Given the description of an element on the screen output the (x, y) to click on. 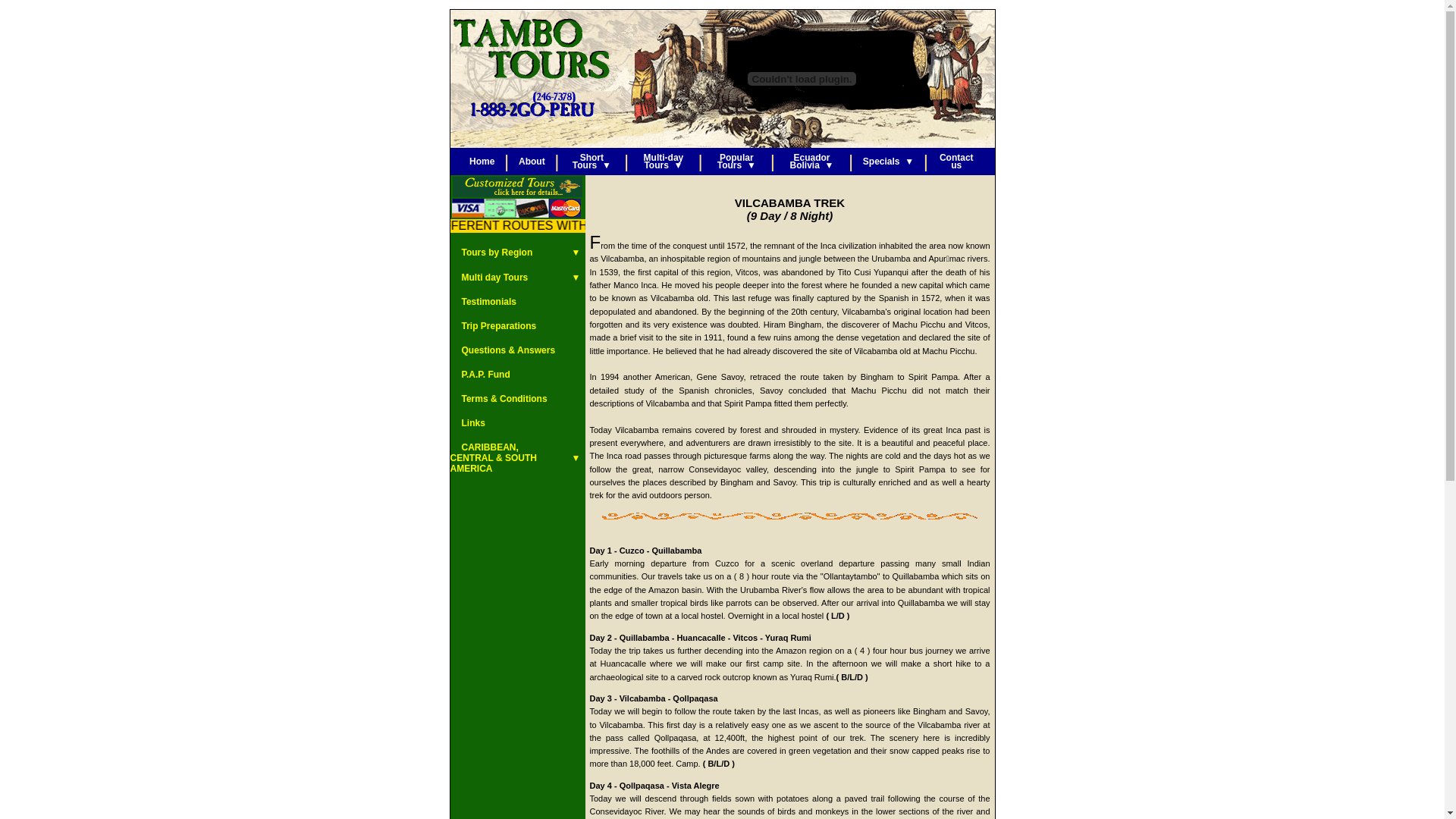
About Element type: text (531, 161)
P.A.P. Fund Element type: text (480, 374)
Home Element type: text (481, 161)
Questions & Answers Element type: text (502, 350)
Contact us Element type: text (956, 161)
Trip Preparations Element type: text (493, 325)
Links Element type: text (467, 422)
Terms & Conditions Element type: text (498, 398)
Multi day Tours Element type: text (489, 276)
Testimonials Element type: text (483, 301)
Tours by Region Element type: text (491, 252)
CARIBBEAN, CENTRAL & SOUTH AMERICA Element type: text (493, 457)
